Given the description of an element on the screen output the (x, y) to click on. 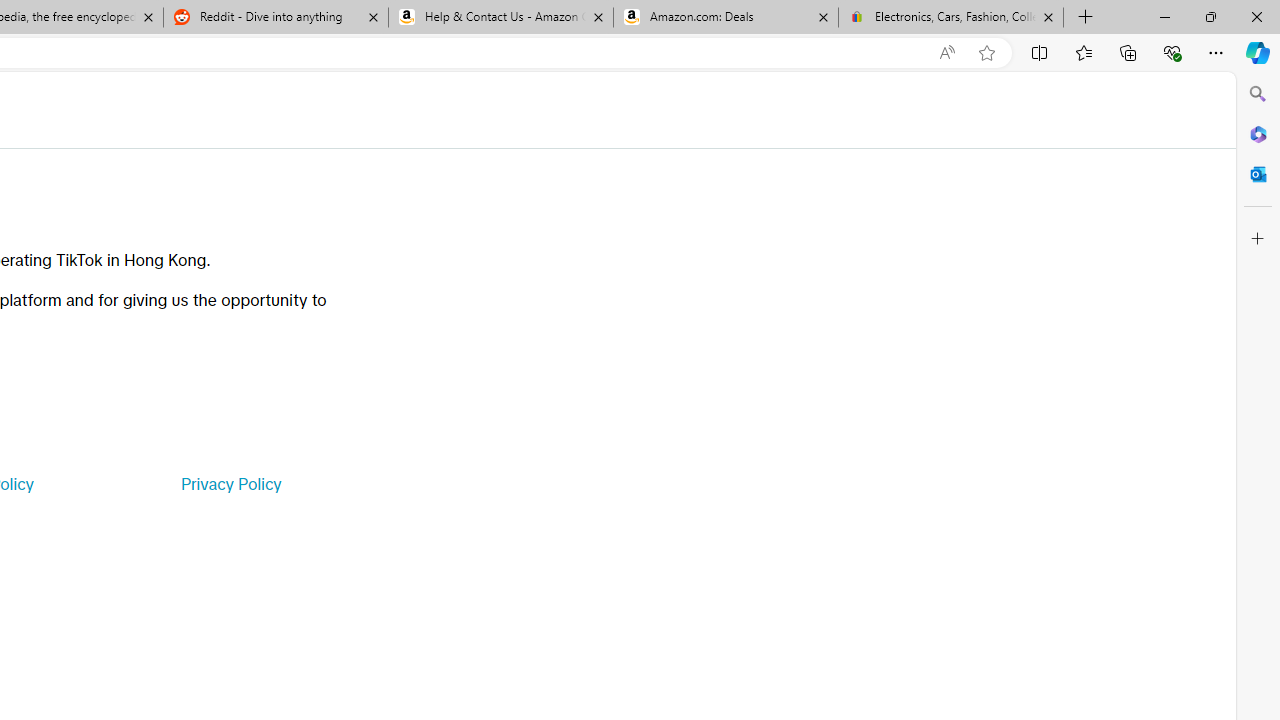
Help & Contact Us - Amazon Customer Service (501, 17)
Amazon.com: Deals (726, 17)
